Given the description of an element on the screen output the (x, y) to click on. 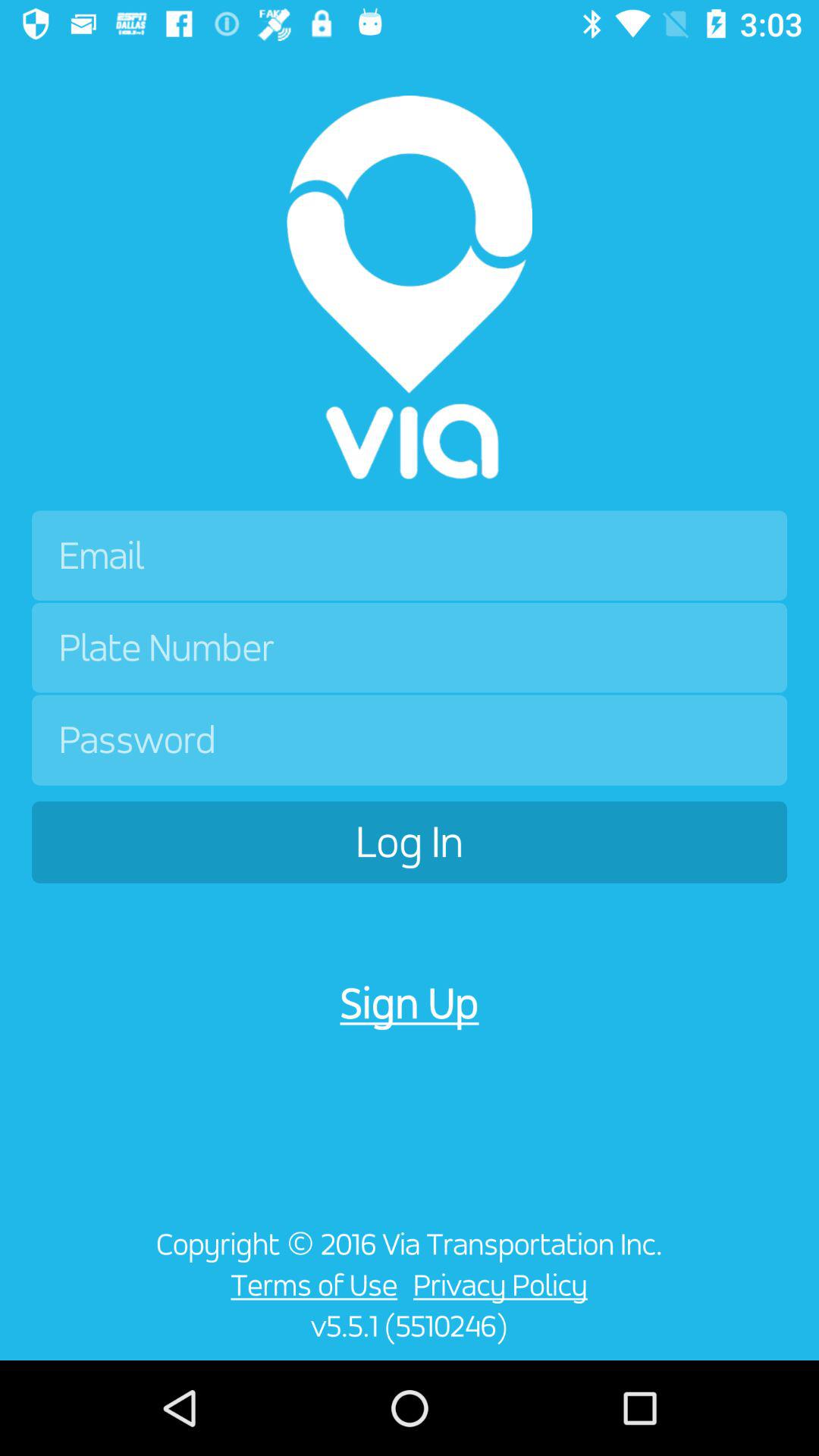
choose item to the right of terms of use item (504, 1284)
